Given the description of an element on the screen output the (x, y) to click on. 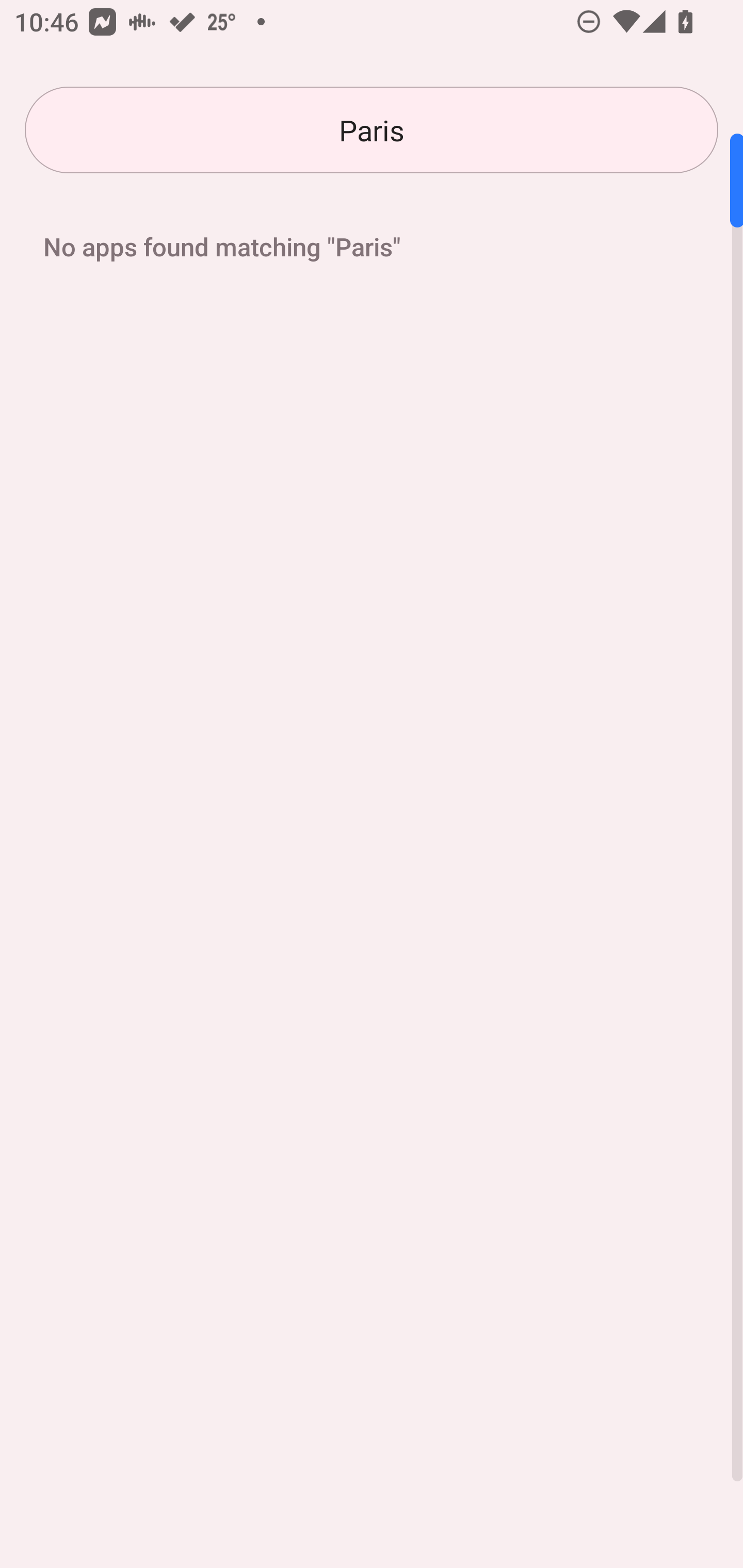
Paris (371, 130)
